Given the description of an element on the screen output the (x, y) to click on. 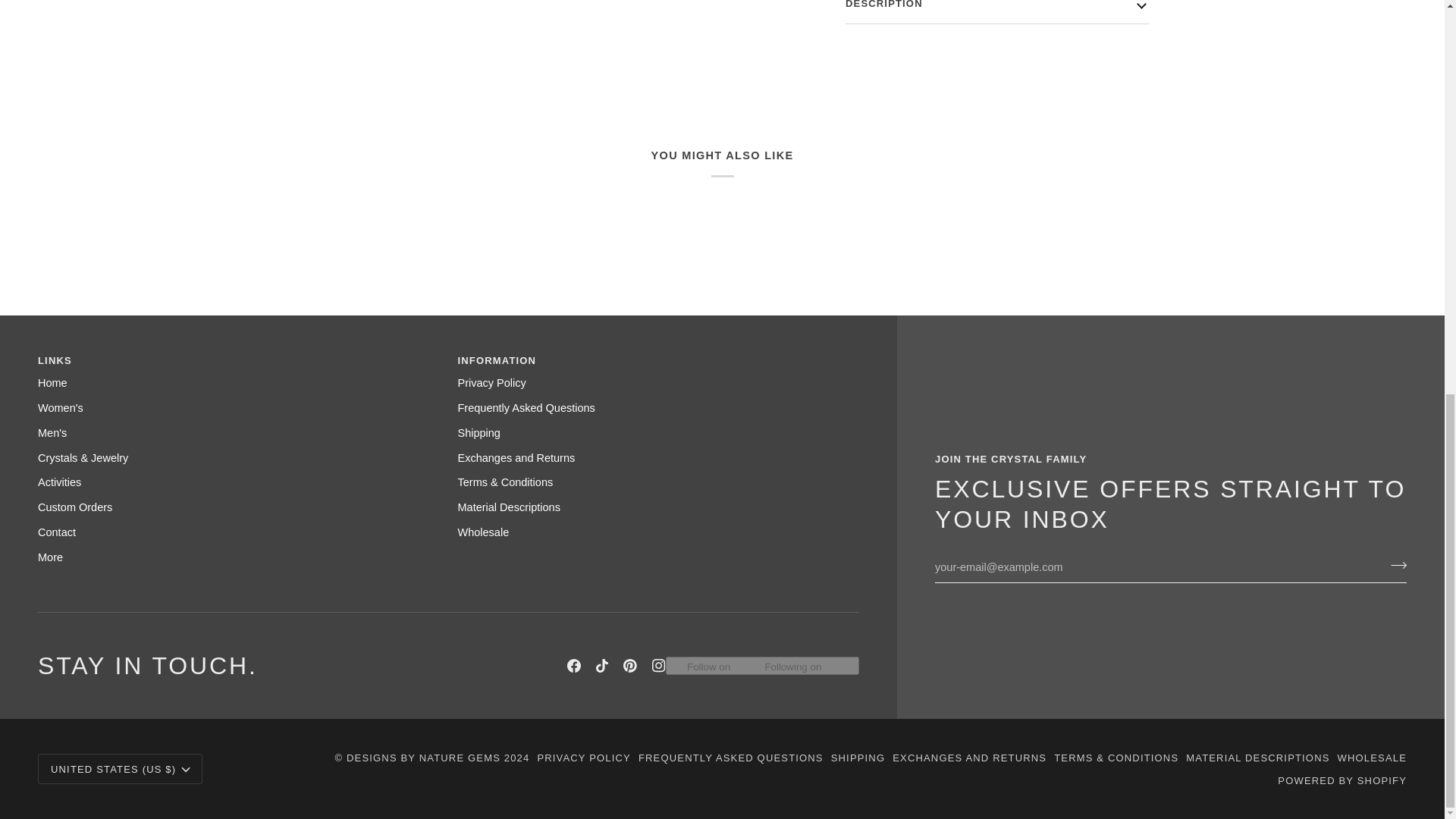
Pinterest (630, 665)
Facebook (573, 665)
Tiktok (601, 665)
Instagram (658, 665)
